Given the description of an element on the screen output the (x, y) to click on. 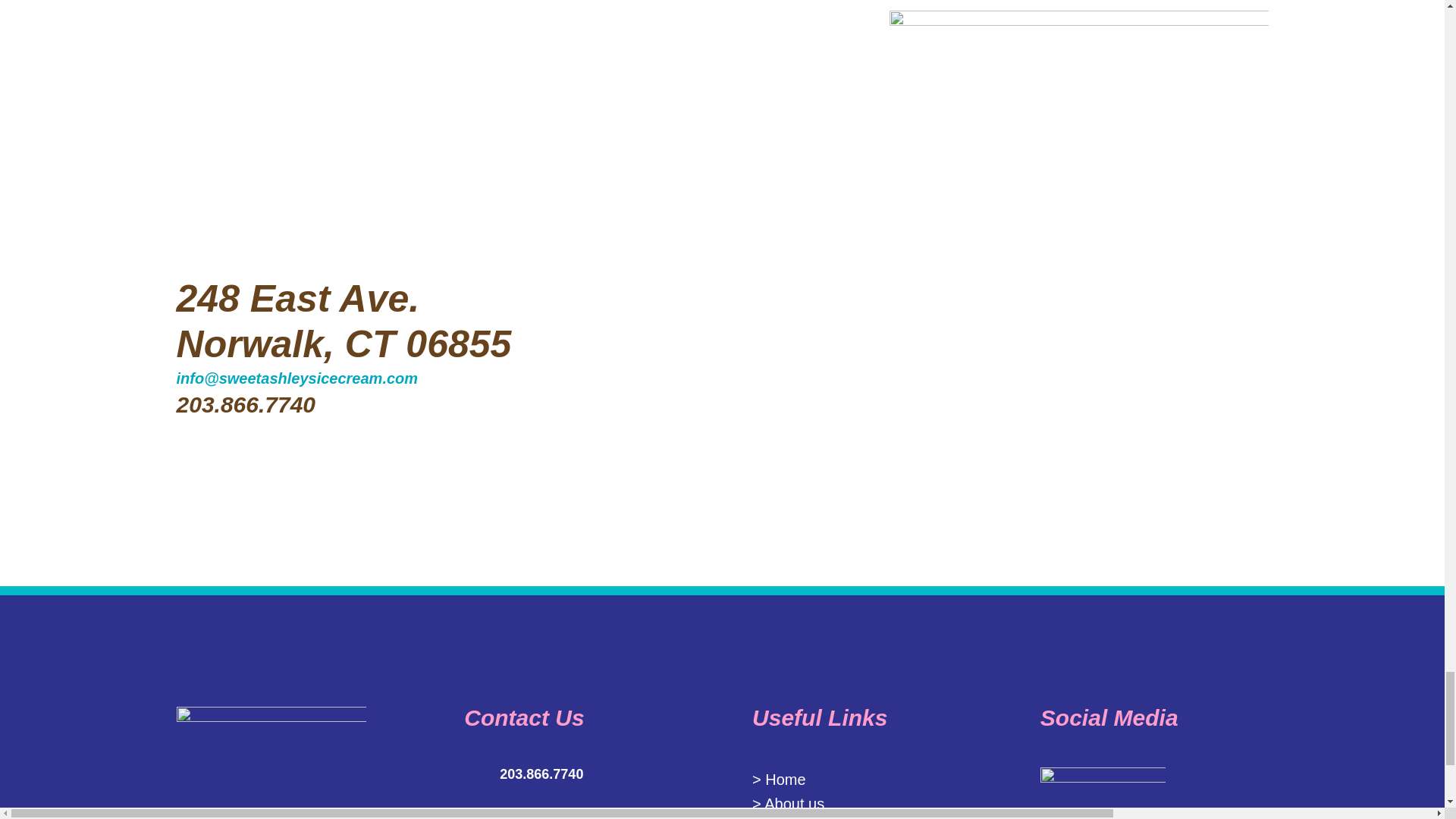
203.866.7740 (245, 404)
footer logo (271, 762)
203.866.7740 (541, 774)
